Given the description of an element on the screen output the (x, y) to click on. 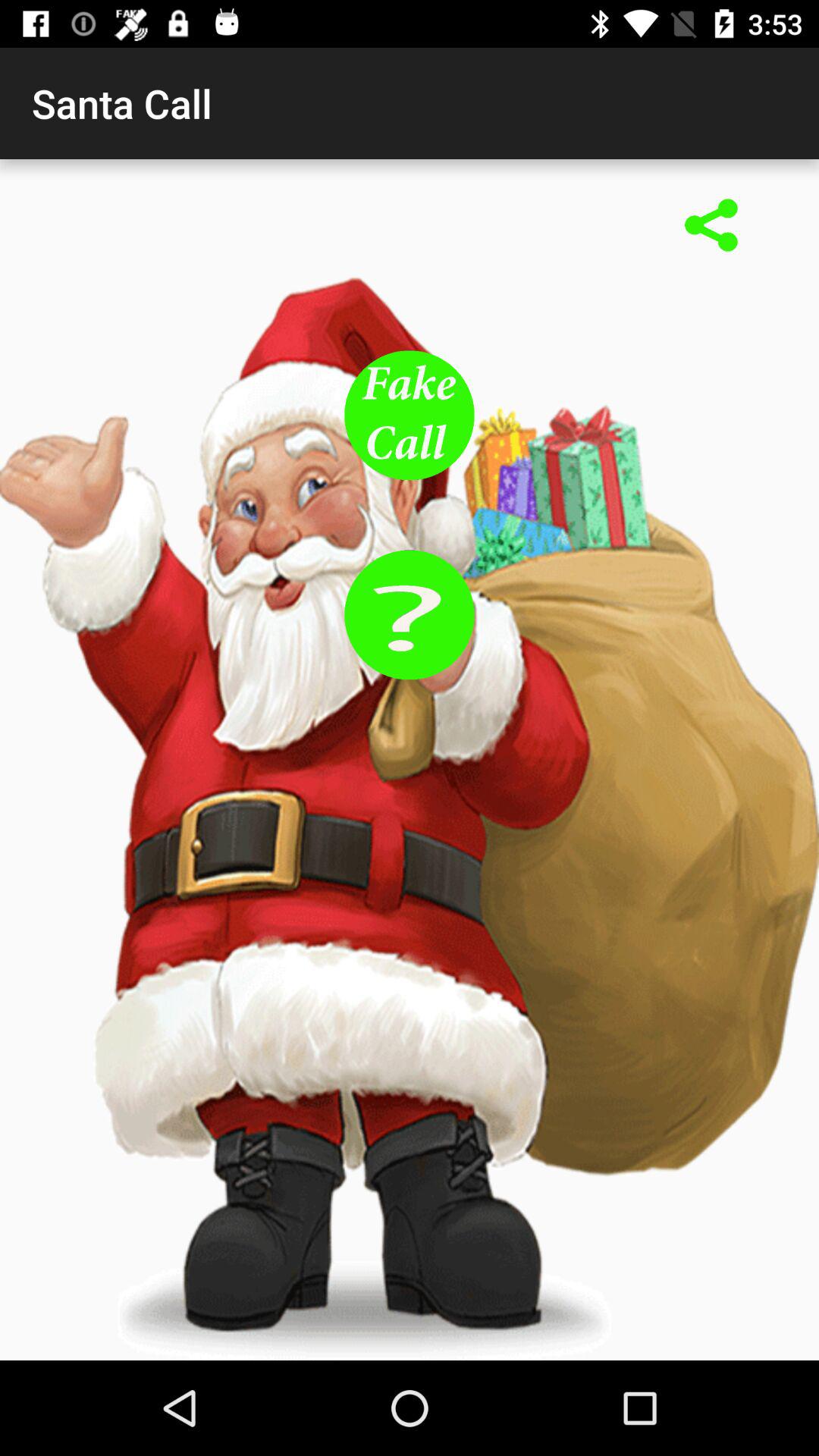
fake call (409, 415)
